Given the description of an element on the screen output the (x, y) to click on. 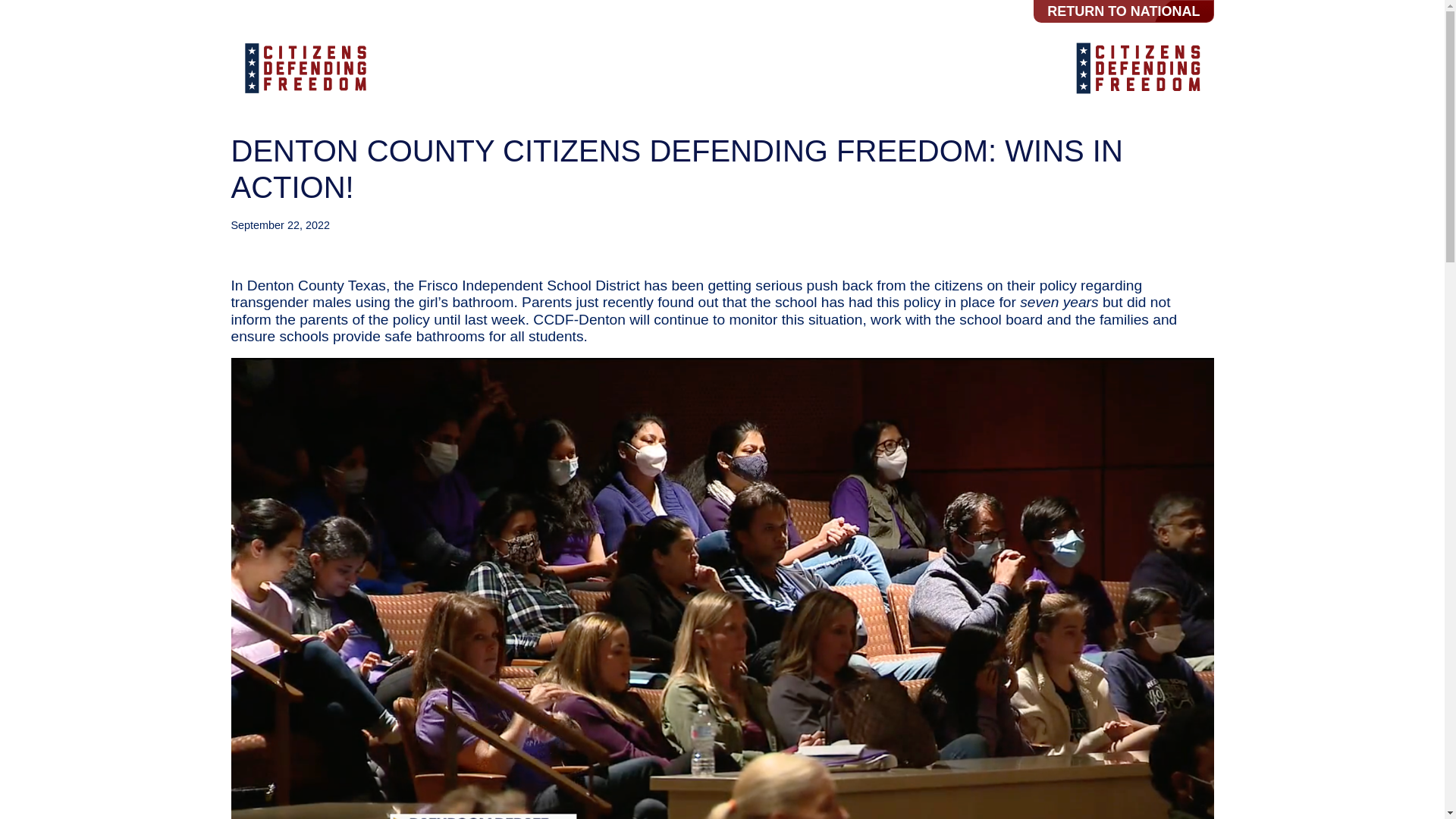
RETURN TO NATIONAL (1122, 11)
CDF National Site (304, 68)
